Given the description of an element on the screen output the (x, y) to click on. 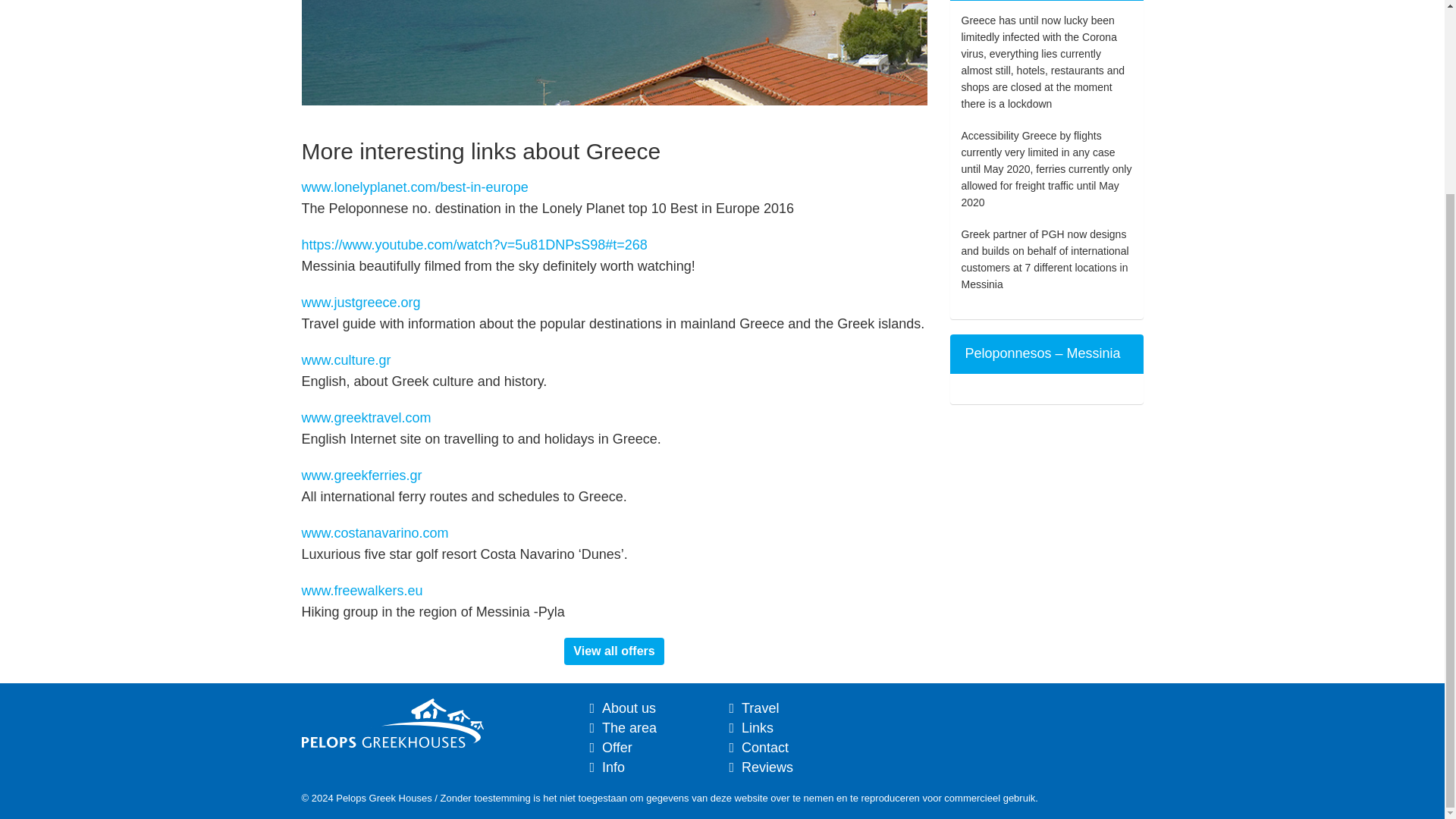
Reviews (767, 767)
About us (629, 708)
www.greektravel.com (365, 417)
Info (613, 767)
View all offers (613, 651)
www.justgreece.org (360, 302)
The area (629, 727)
www.costanavarino.com (374, 532)
Links (757, 727)
Offer (616, 747)
Contact (765, 747)
www.freewalkers.eu (362, 590)
Travel (759, 708)
www.greekferries.gr (361, 475)
Pelops Greek Houses (392, 743)
